Given the description of an element on the screen output the (x, y) to click on. 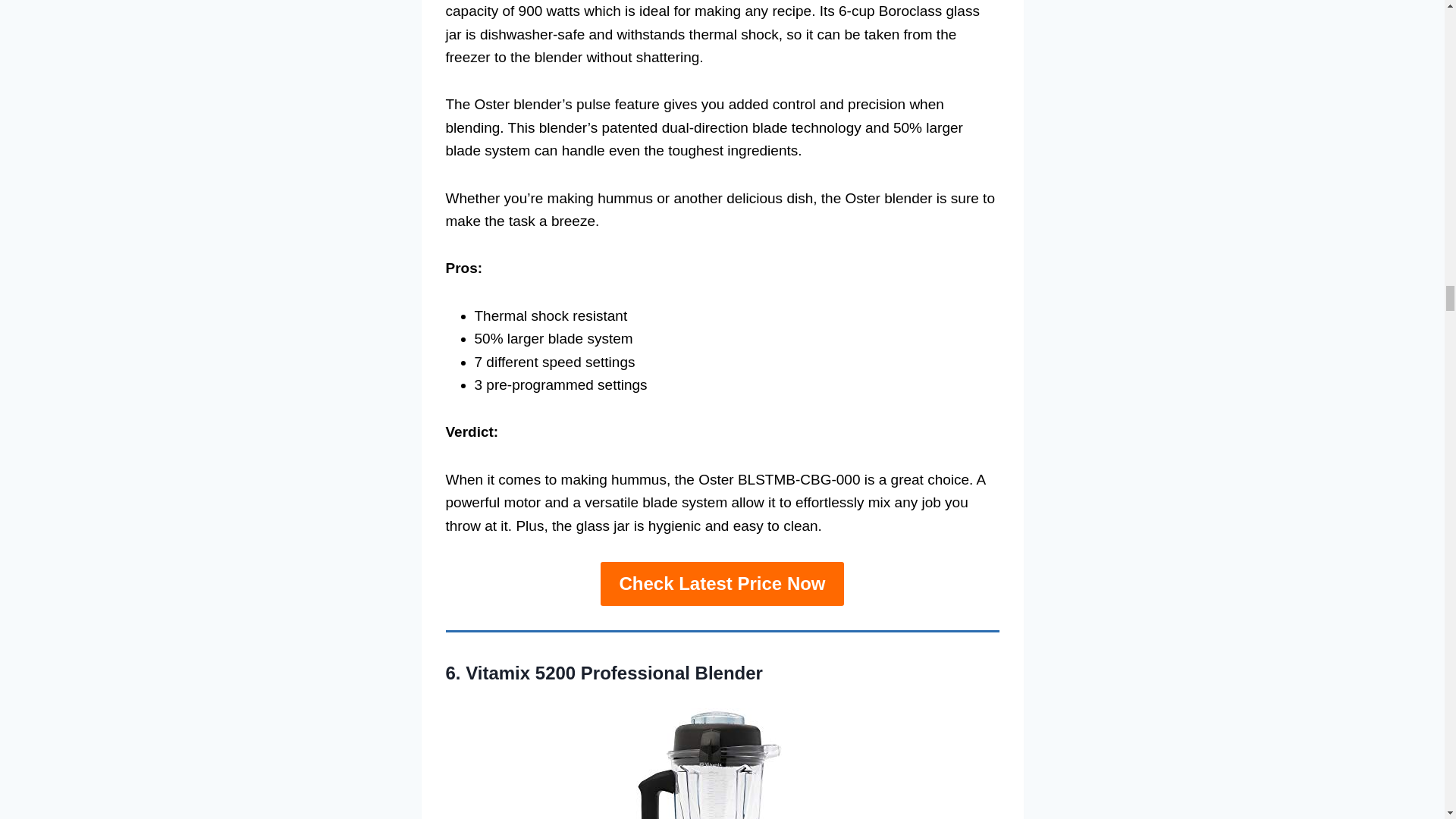
Check Latest Price Now (721, 583)
